Given the description of an element on the screen output the (x, y) to click on. 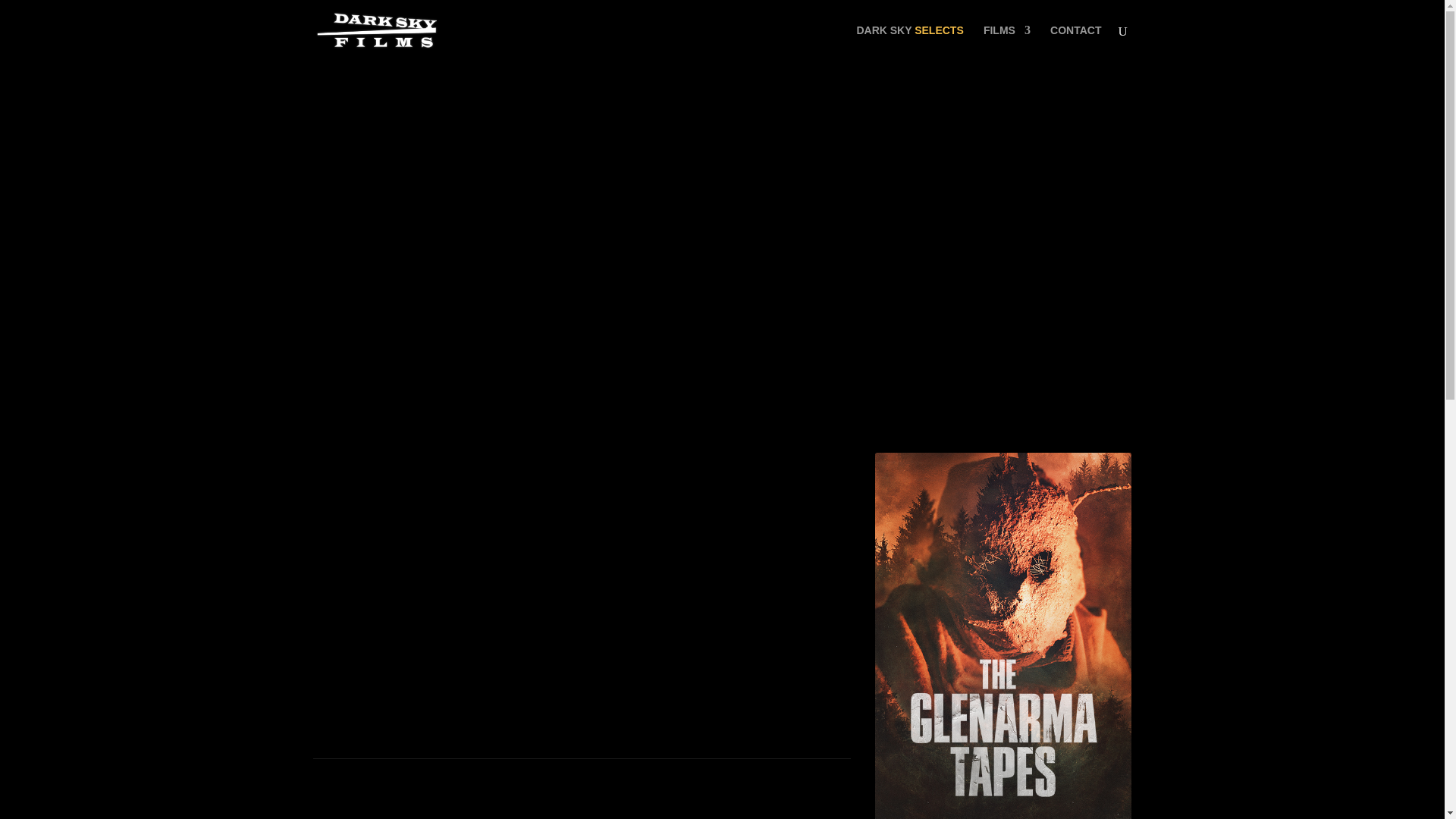
CONTACT (1074, 42)
DARK SKY SELECTS (909, 42)
FILMS (1007, 42)
